Given the description of an element on the screen output the (x, y) to click on. 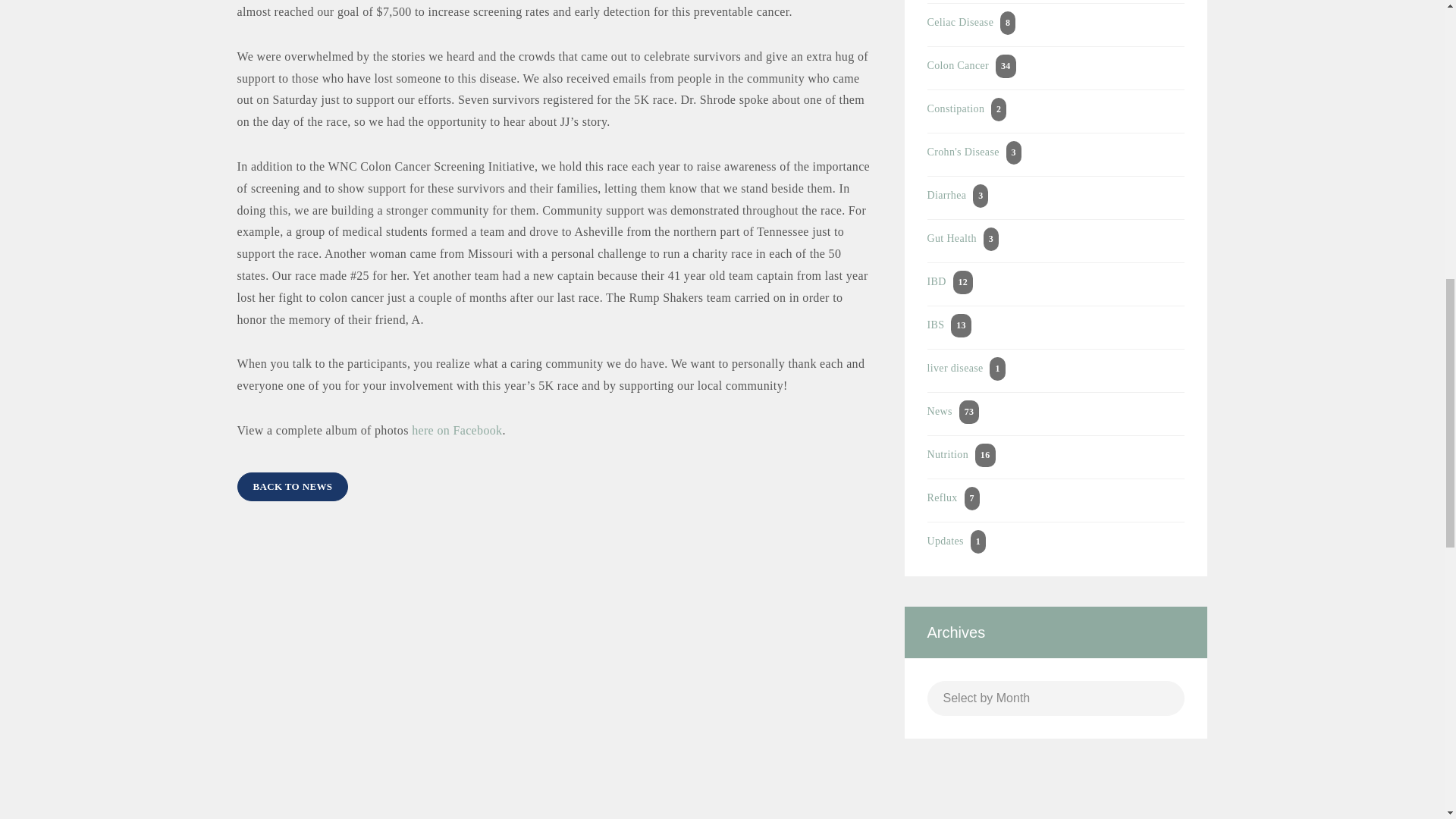
here on Facebook (457, 430)
